Given the description of an element on the screen output the (x, y) to click on. 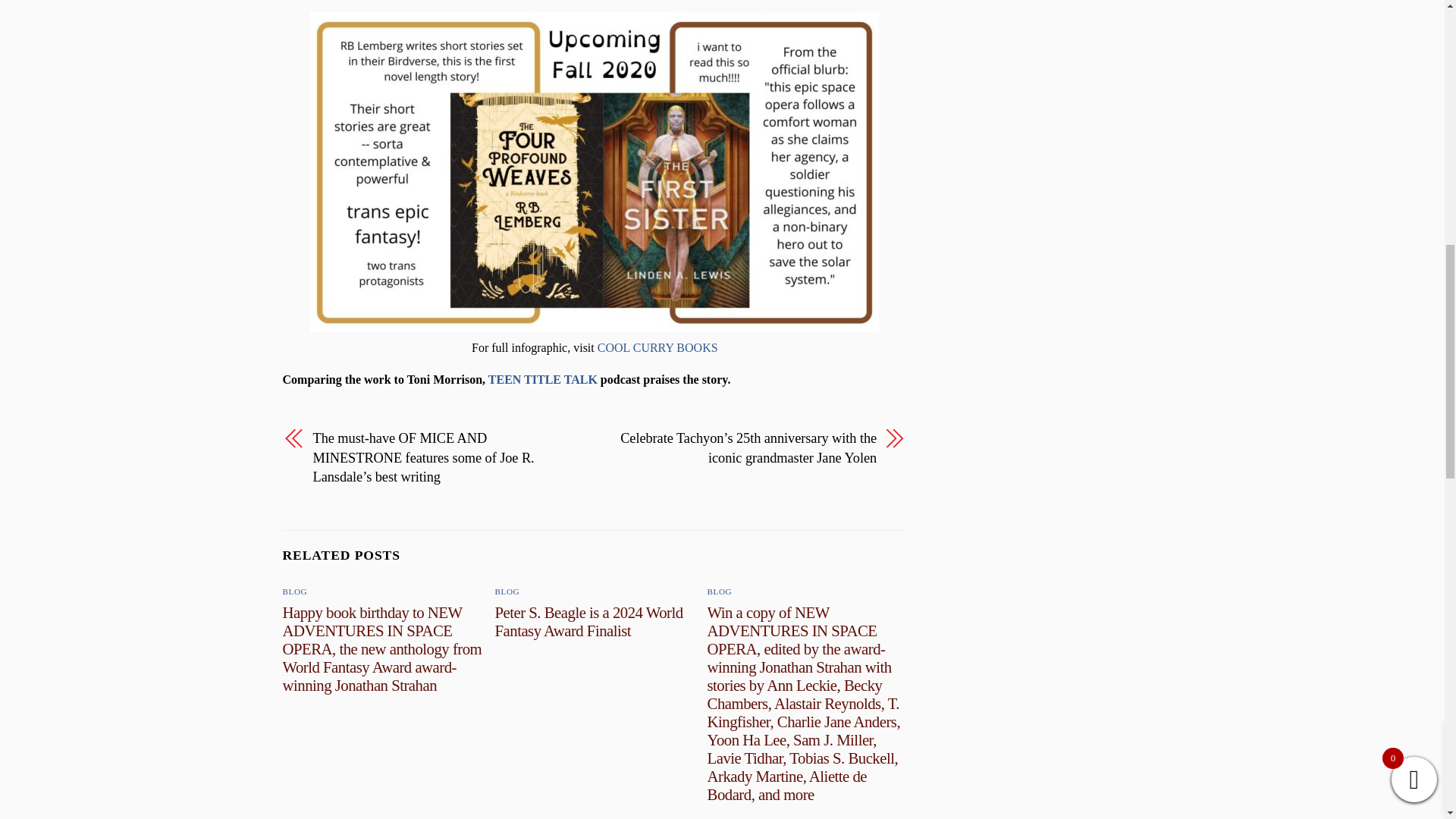
Peter S. Beagle is a 2024 World Fantasy Award Finalist (588, 621)
